Given the description of an element on the screen output the (x, y) to click on. 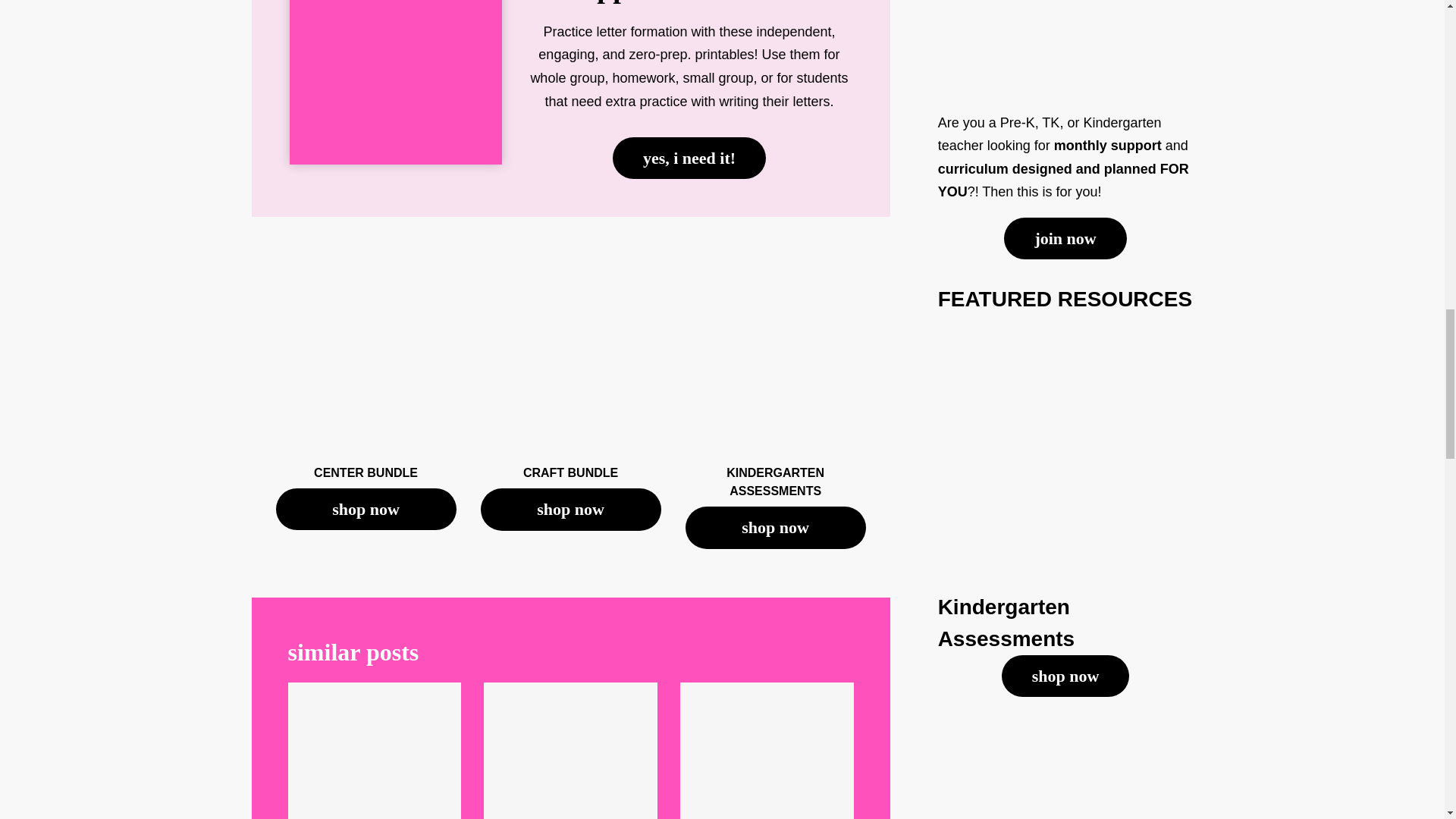
shop now (570, 508)
yes, i need it! (688, 158)
Our little family is growing! 5 (766, 750)
shop now (366, 508)
shop now (775, 526)
Lorax Mustache Craft 4 (570, 750)
Spring Sight Word Game 3 (374, 750)
